Given the description of an element on the screen output the (x, y) to click on. 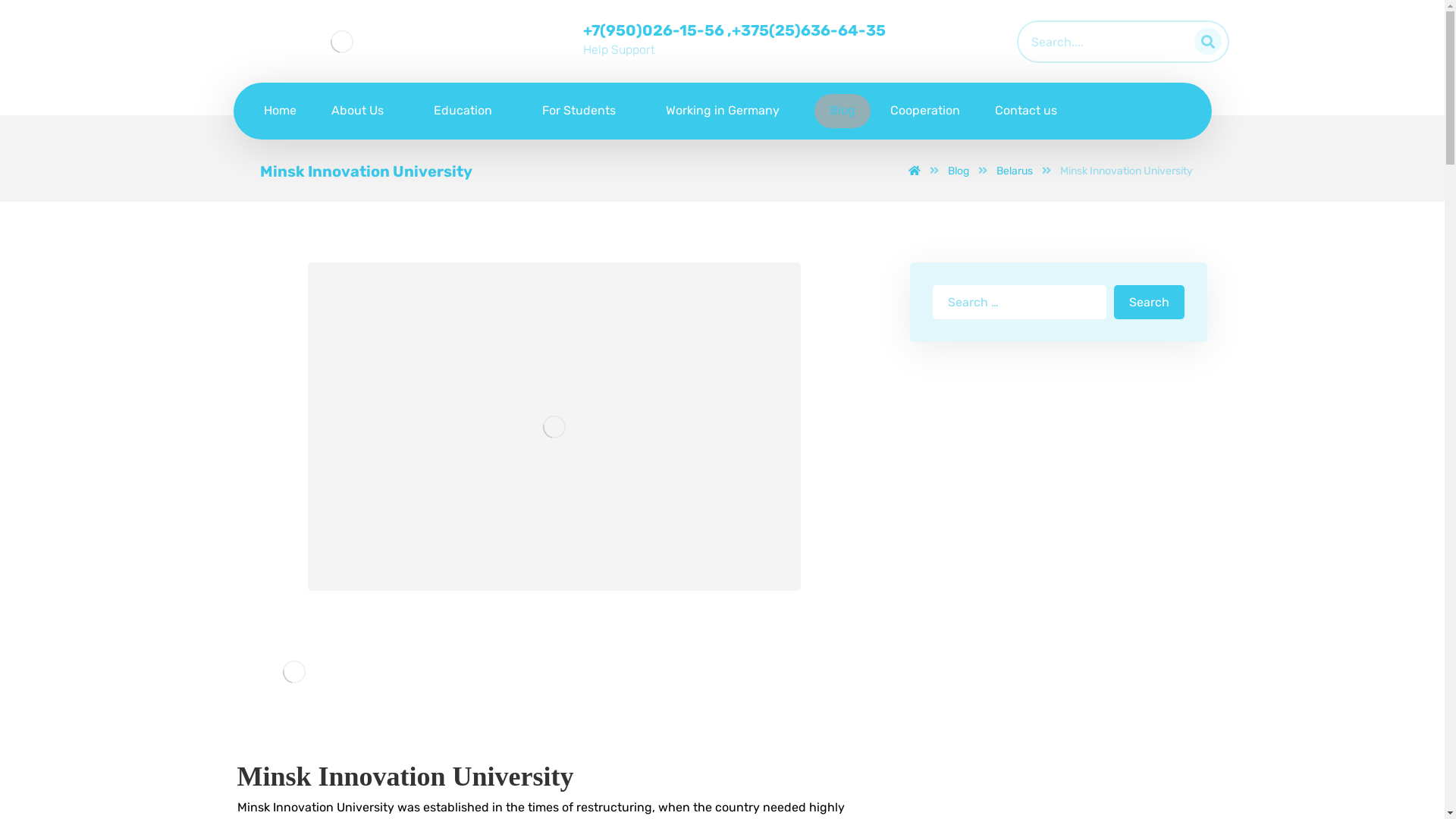
Minsk Innovation University Element type: text (1126, 170)
For Students Element type: text (585, 111)
About Us Element type: text (364, 111)
Blog Element type: text (842, 111)
Working in Germany Element type: text (729, 111)
Education Element type: text (470, 111)
Home Element type: text (279, 111)
Blog Element type: text (958, 170)
Contact us Element type: text (1025, 111)
+7(950)026-15-56 ,+375(25)636-64-35
Help Support Element type: text (706, 36)
Belarus Element type: text (1014, 170)
Search Element type: text (1148, 302)
Cooperation Element type: text (925, 111)
